Given the description of an element on the screen output the (x, y) to click on. 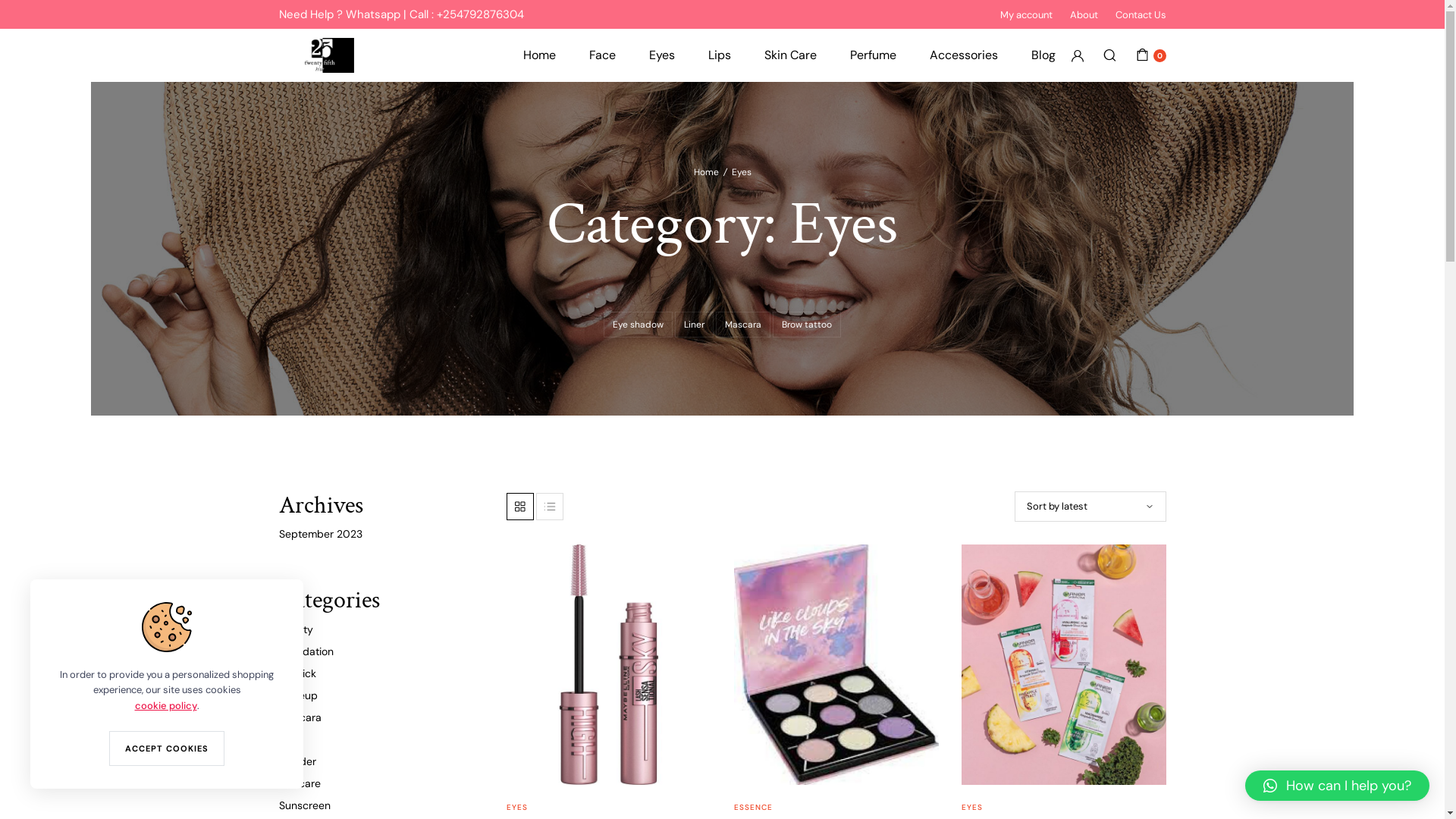
September 2023 Element type: text (320, 533)
Skin Care Element type: text (790, 54)
Skincare Element type: text (299, 783)
Lipstick Element type: text (297, 673)
cookie policy Element type: text (165, 705)
Beauty Element type: text (296, 629)
Contact Us Element type: text (1139, 14)
0 Element type: text (1150, 55)
Face Element type: text (601, 54)
Home Element type: text (539, 54)
My account Element type: text (1025, 14)
Blog Element type: text (1043, 54)
Mascara Element type: text (742, 324)
Sunscreen Element type: text (304, 805)
Perfume Element type: text (872, 54)
Powder Element type: text (297, 761)
Accessories Element type: text (963, 54)
Eyes Element type: text (661, 54)
Mascara Element type: text (300, 717)
The 25th Hive Element type: hover (324, 55)
Eye shadow Element type: text (637, 324)
Brow tattoo Element type: text (806, 324)
ACCEPT COOKIES Element type: text (166, 748)
About Element type: text (1083, 14)
Whatsapp Element type: text (372, 13)
Liner Element type: text (693, 324)
ESSENCE Element type: text (753, 807)
Makeup Element type: text (298, 695)
EYES Element type: text (516, 807)
EYES Element type: text (971, 807)
Lips Element type: text (719, 54)
Home Element type: text (705, 172)
How can I help you? Element type: text (1337, 785)
Men Element type: text (289, 739)
Foundation Element type: text (306, 651)
